Given the description of an element on the screen output the (x, y) to click on. 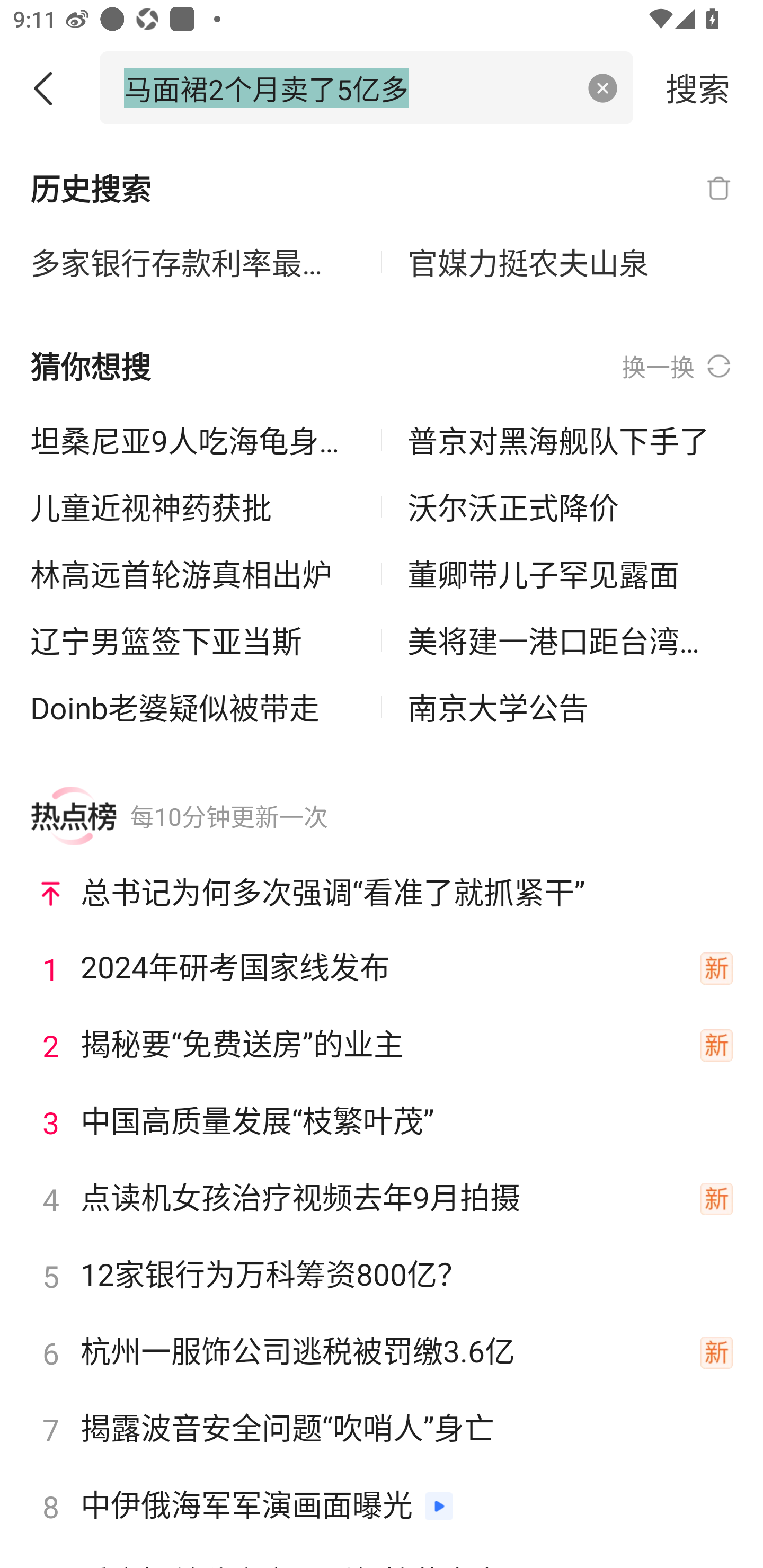
返回 (49, 87)
搜索 (698, 87)
马面裙2个月卖了5亿多 (347, 87)
清空 (602, 88)
多家银行存款利率最高达10% (193, 262)
官媒力挺农夫山泉 (569, 262)
换一换 (676, 366)
坦桑尼亚9人吃海龟身亡 (193, 439)
普京对黑海舰队下手了 (569, 439)
儿童近视神药获批 (193, 506)
沃尔沃正式降价 (569, 506)
林高远首轮游真相出炉 (193, 573)
董卿带儿子罕见露面 (569, 573)
辽宁男篮签下亚当斯 (193, 640)
美将建一港口距台湾不到200公里 (569, 640)
Doinb老婆疑似被带走 (193, 707)
南京大学公告 (569, 707)
